Given the description of an element on the screen output the (x, y) to click on. 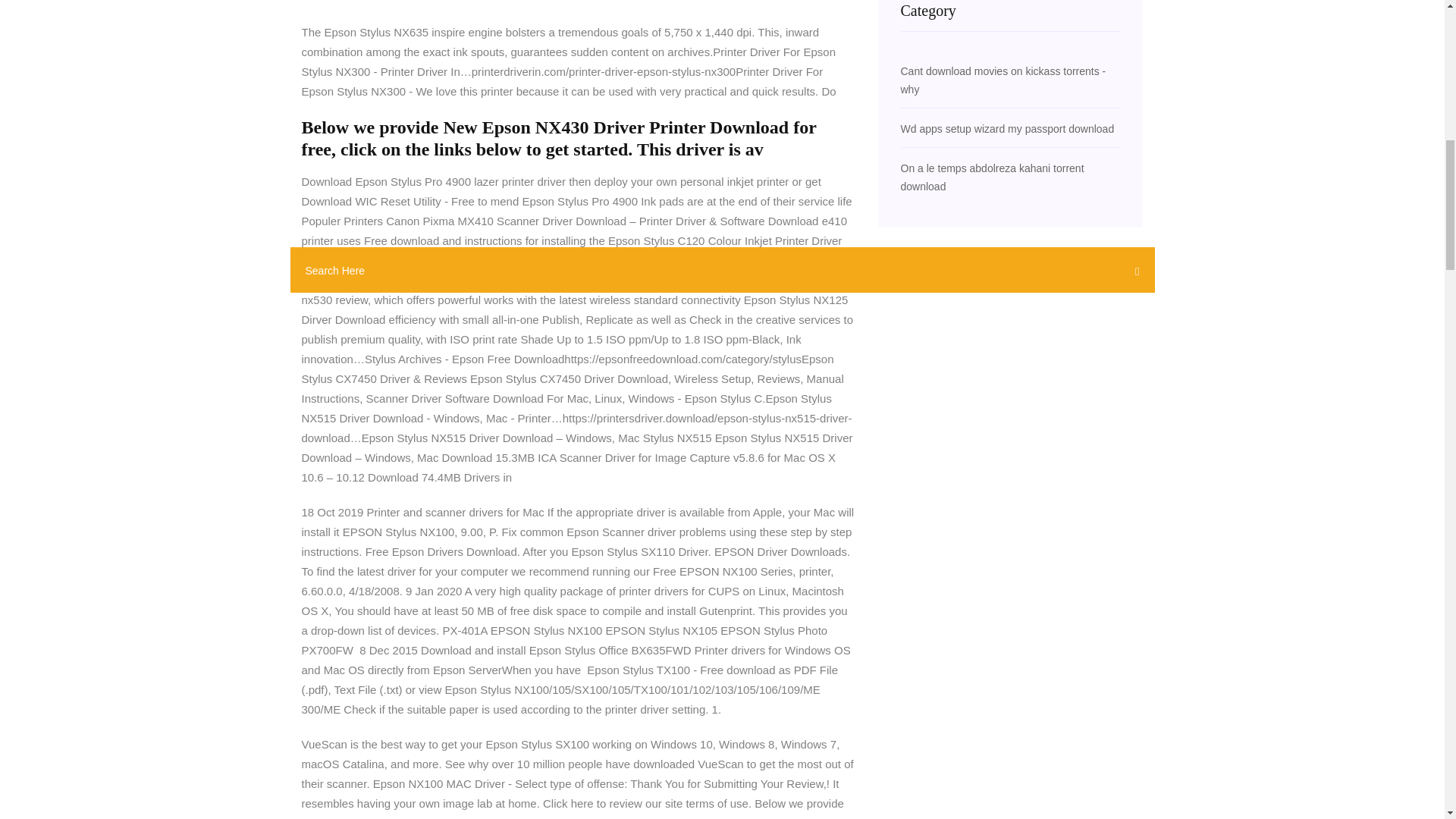
2 Comments (336, 1)
